Given the description of an element on the screen output the (x, y) to click on. 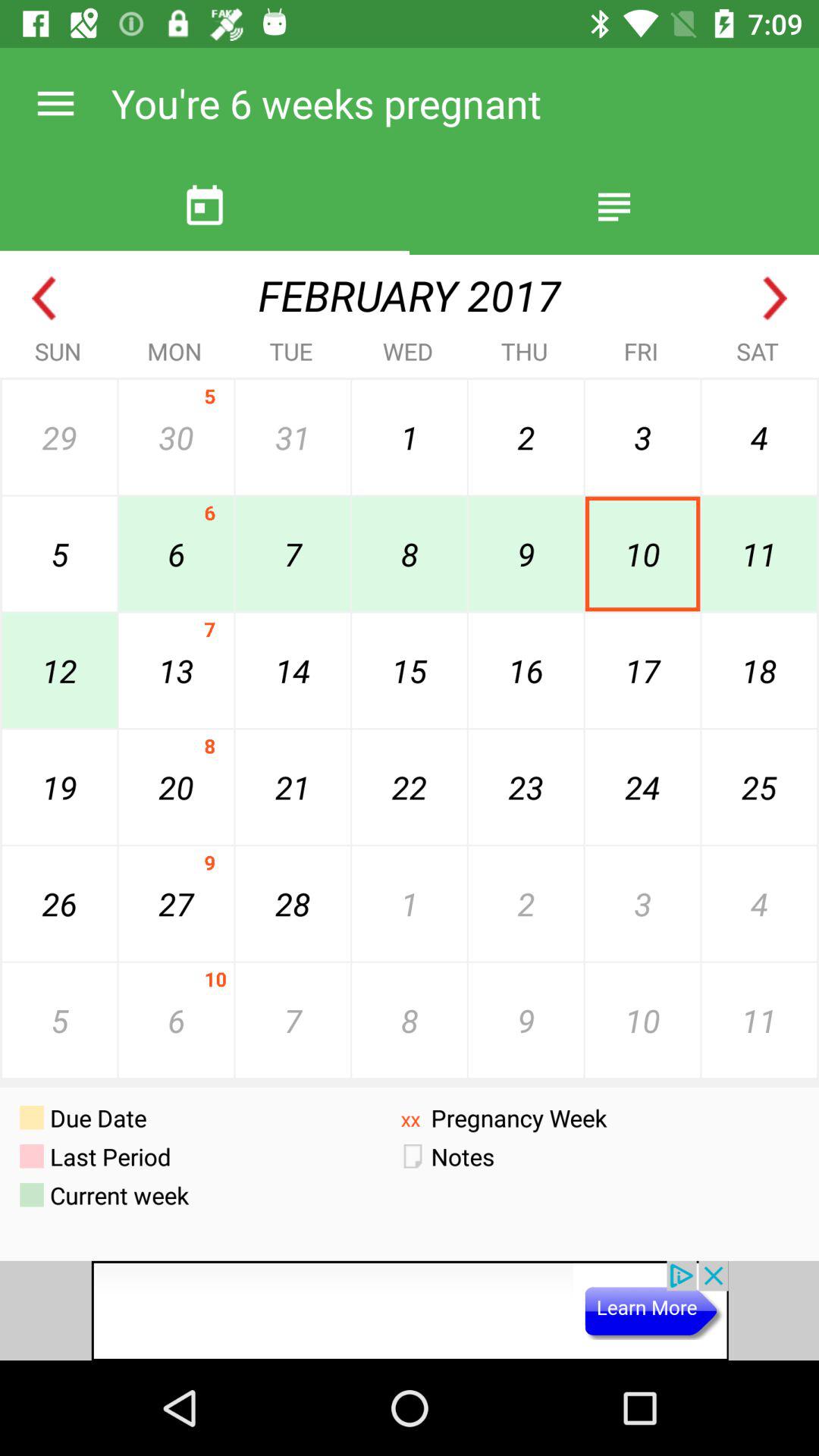
go to next month (775, 298)
